Given the description of an element on the screen output the (x, y) to click on. 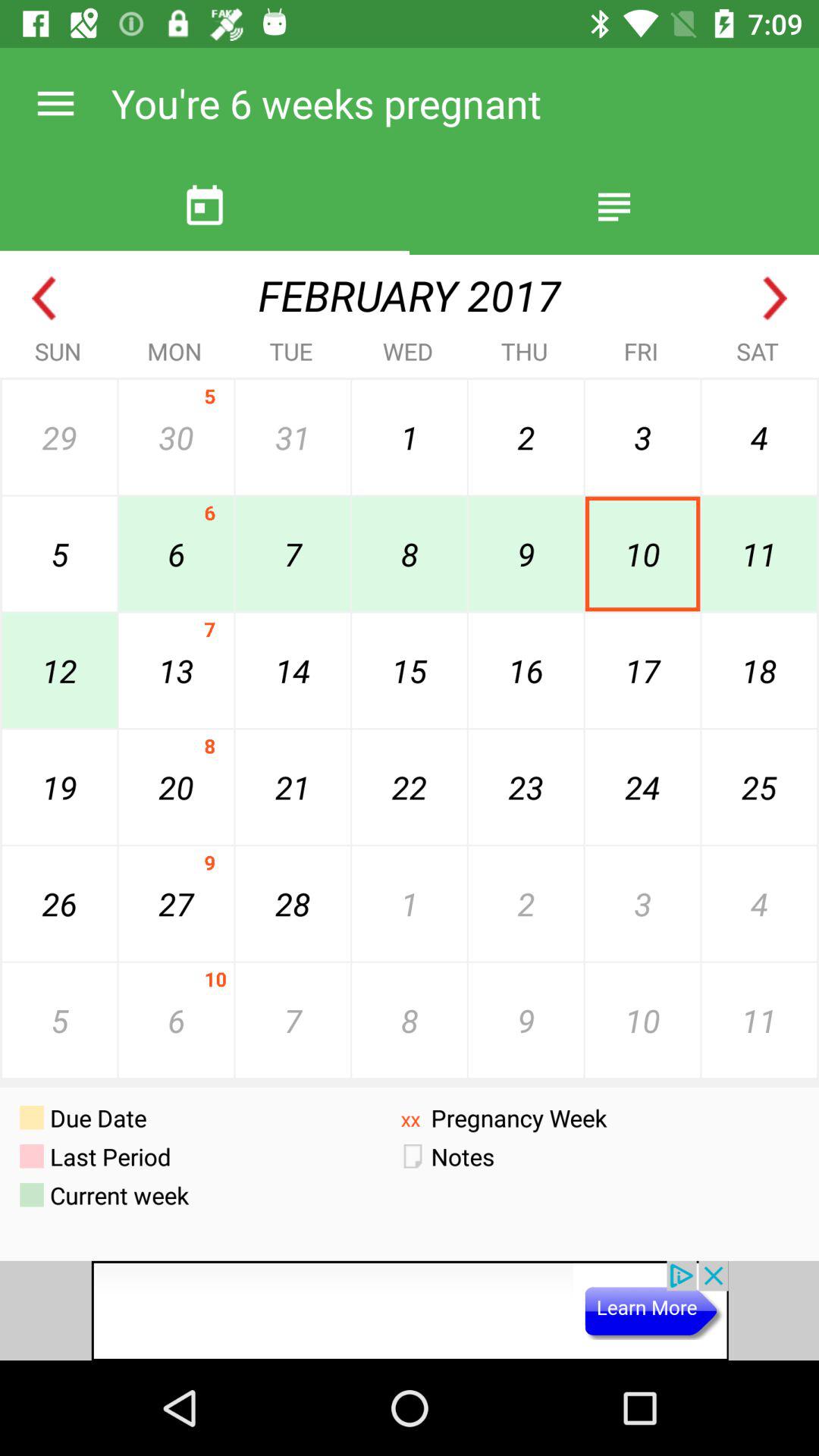
go to next month (775, 298)
